Given the description of an element on the screen output the (x, y) to click on. 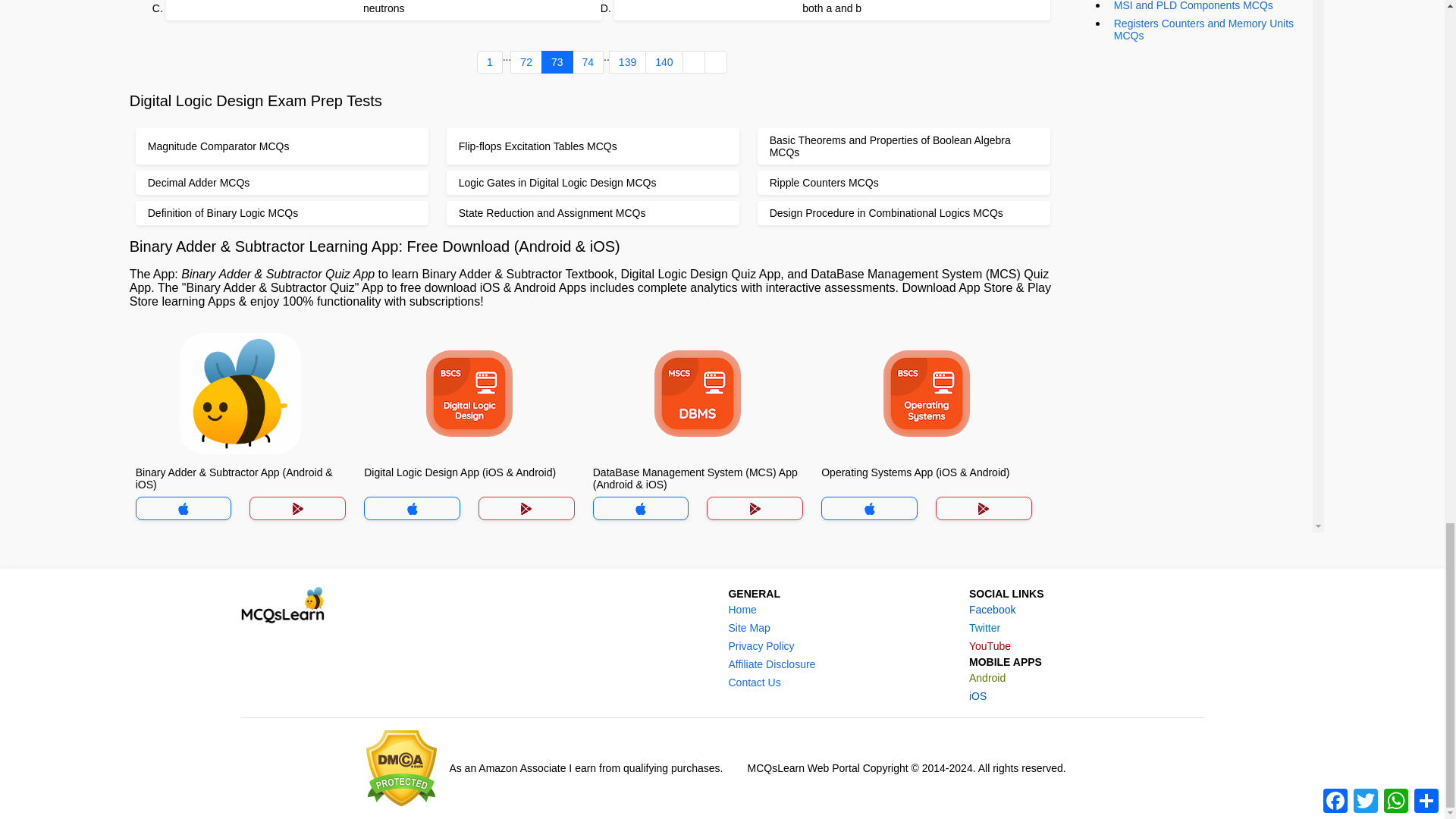
DMCA.com Protection Status (401, 768)
